Given the description of an element on the screen output the (x, y) to click on. 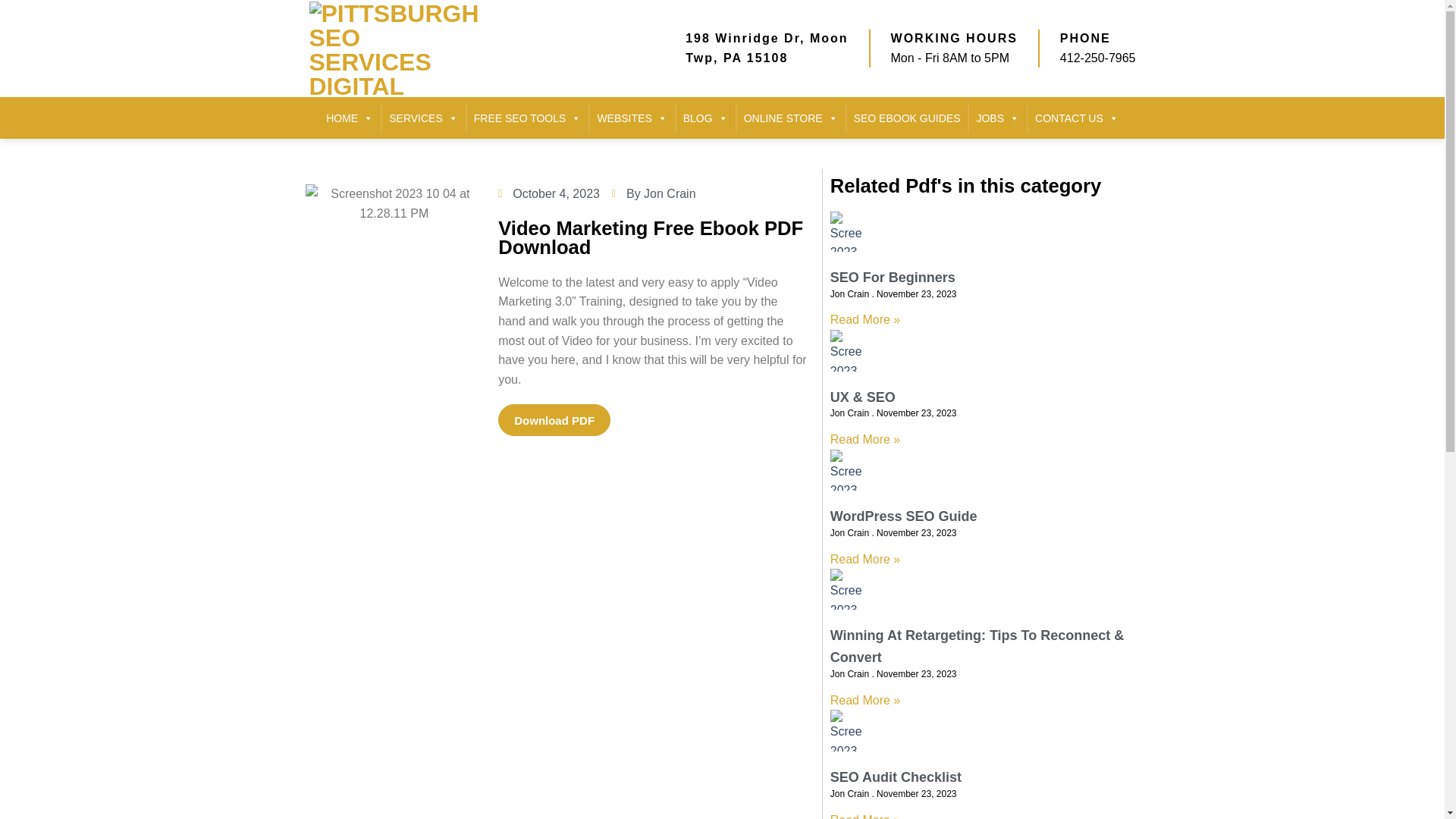
FREE SEO TOOLS (527, 118)
SERVICES (423, 118)
HOME (349, 118)
